Given the description of an element on the screen output the (x, y) to click on. 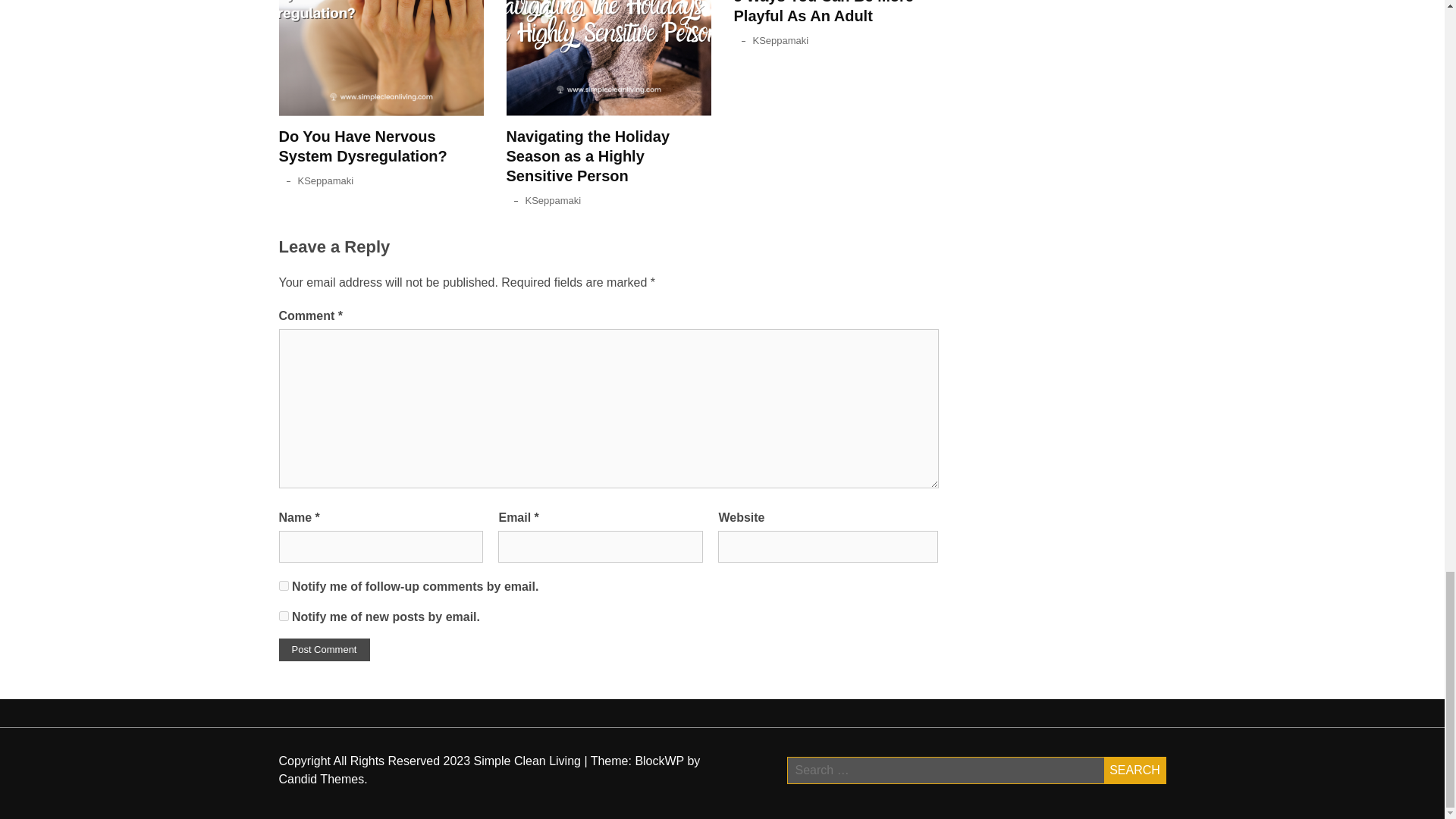
subscribe (283, 615)
Search (1134, 769)
Post Comment (324, 649)
Search (1134, 769)
subscribe (283, 585)
